Given the description of an element on the screen output the (x, y) to click on. 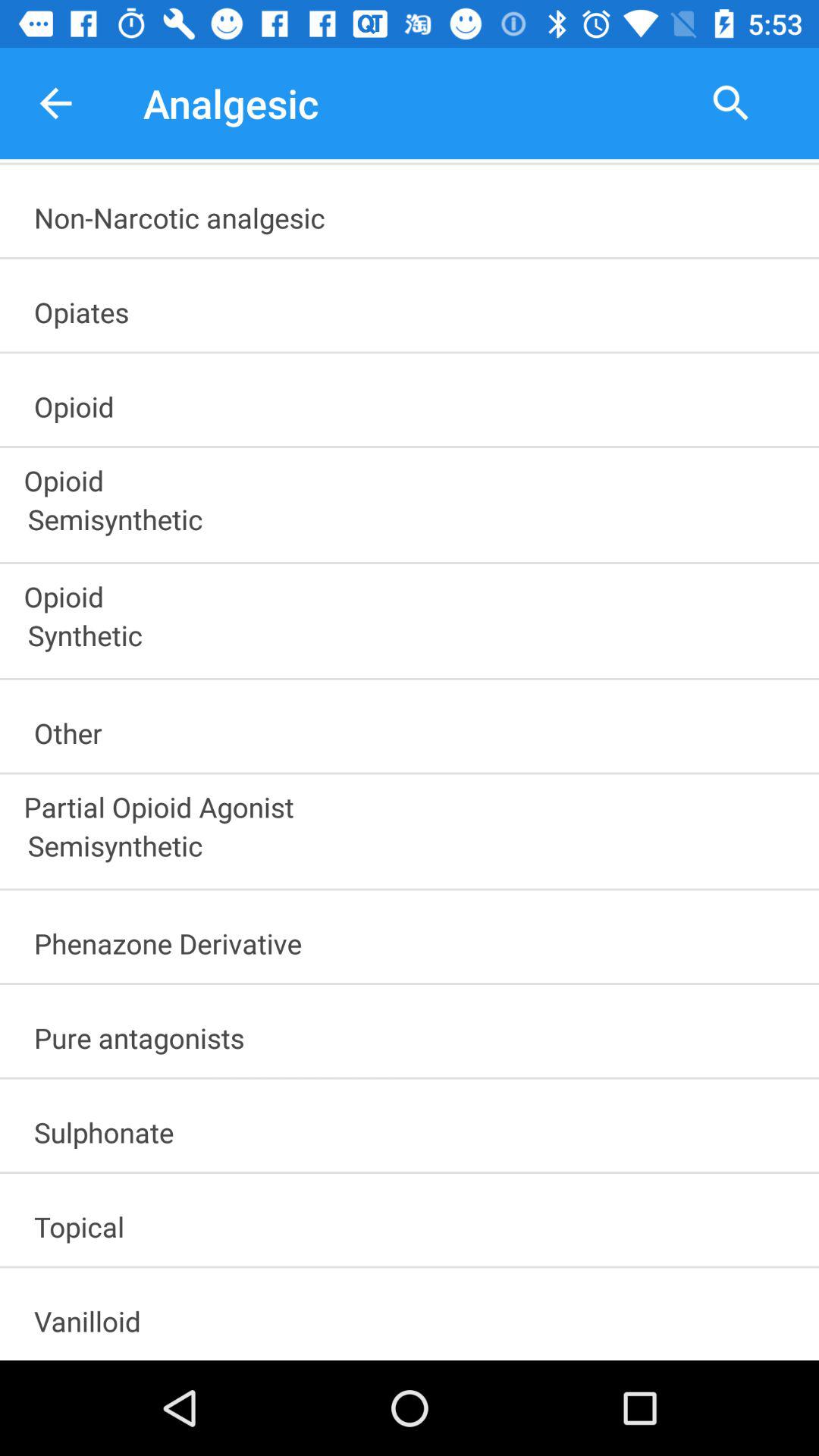
scroll until the phenazone derivative (416, 938)
